Given the description of an element on the screen output the (x, y) to click on. 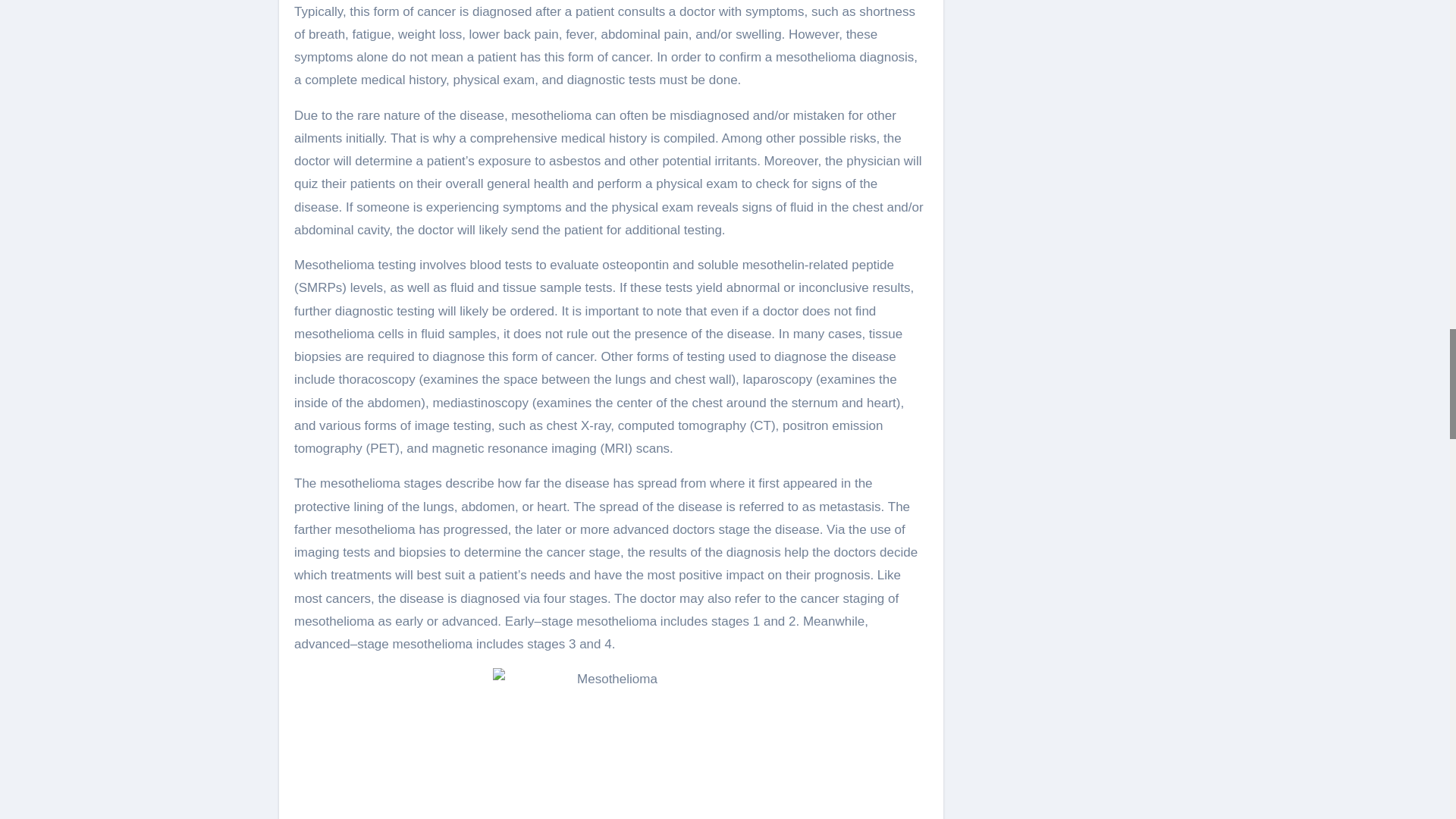
Understanding Mesothelioma and Its Staging (611, 743)
